Given the description of an element on the screen output the (x, y) to click on. 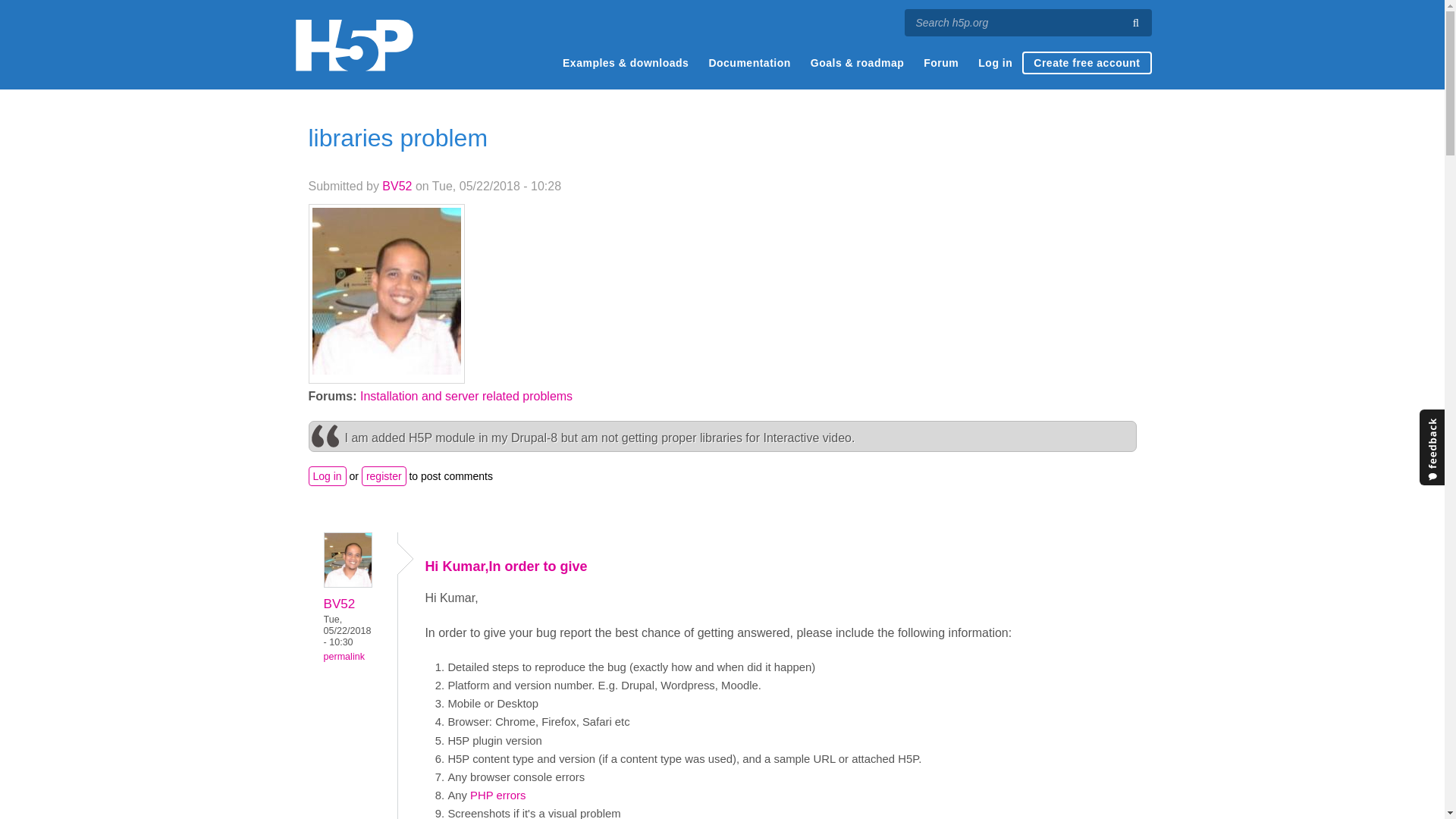
Installation and server related problems (465, 395)
PHP errors (497, 795)
Log in (326, 476)
Front page (353, 44)
Documentation (748, 62)
BV52 (339, 603)
BV52's picture (347, 560)
BV52 (396, 185)
Forum (940, 62)
permalink (343, 656)
BV52's picture (387, 291)
View user profile. (339, 603)
Create free account (1086, 62)
View user profile. (396, 185)
Log in (994, 62)
